Given the description of an element on the screen output the (x, y) to click on. 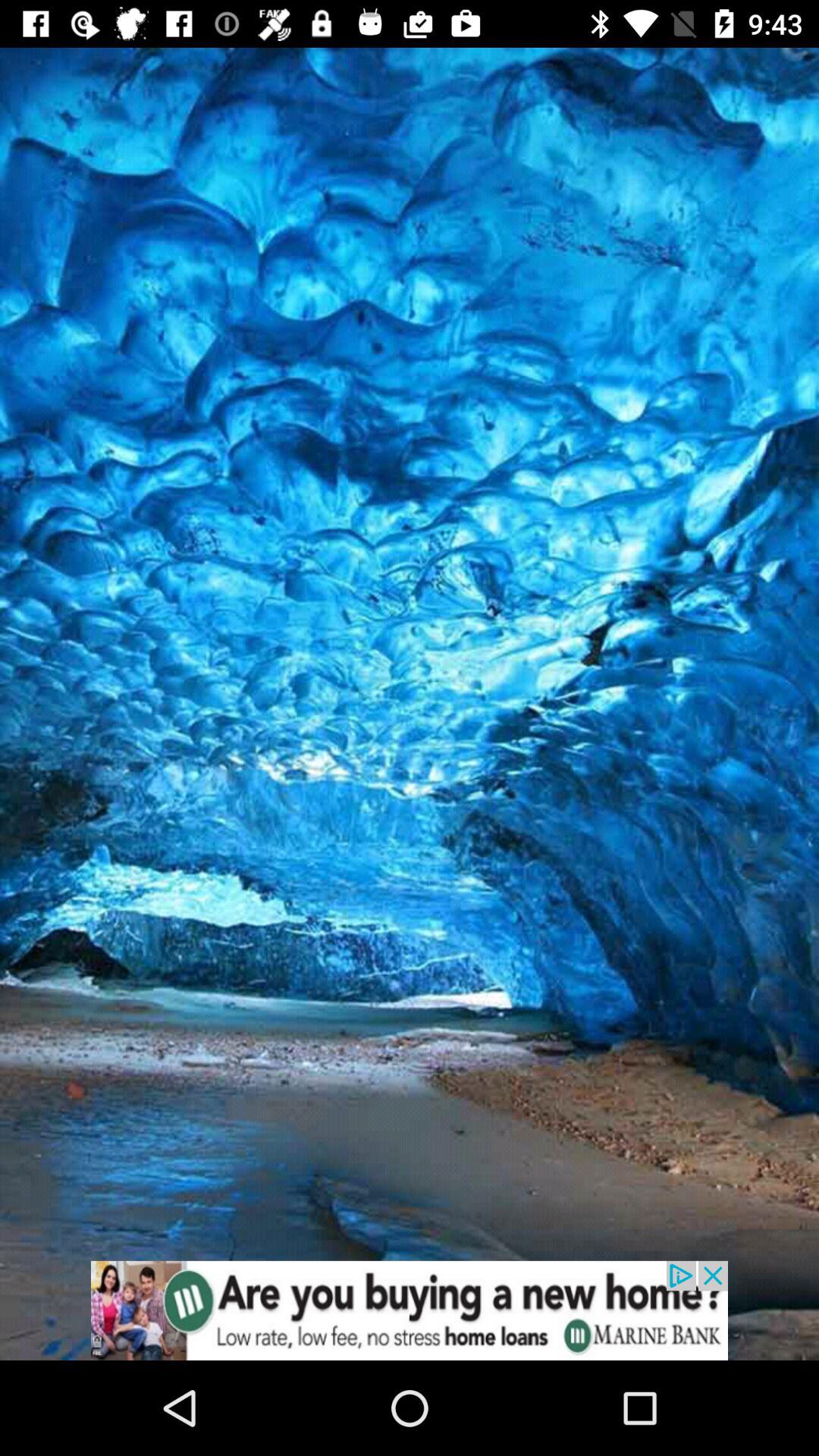
select the advertisement (409, 1310)
